Given the description of an element on the screen output the (x, y) to click on. 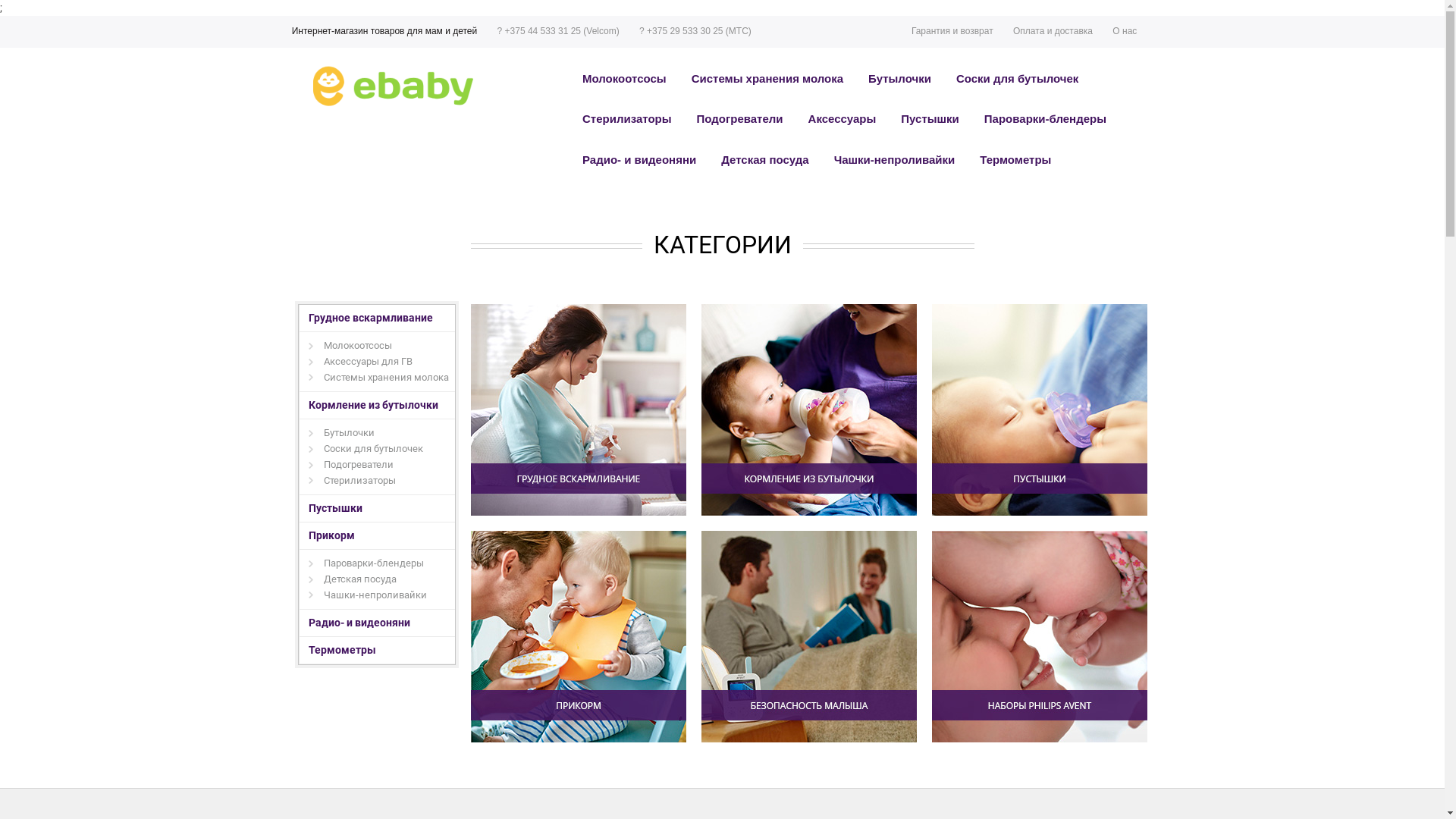
? +375 44 533 31 25 (Velcom) Element type: text (557, 31)
http://philips.e-baby.by Element type: hover (391, 87)
